Given the description of an element on the screen output the (x, y) to click on. 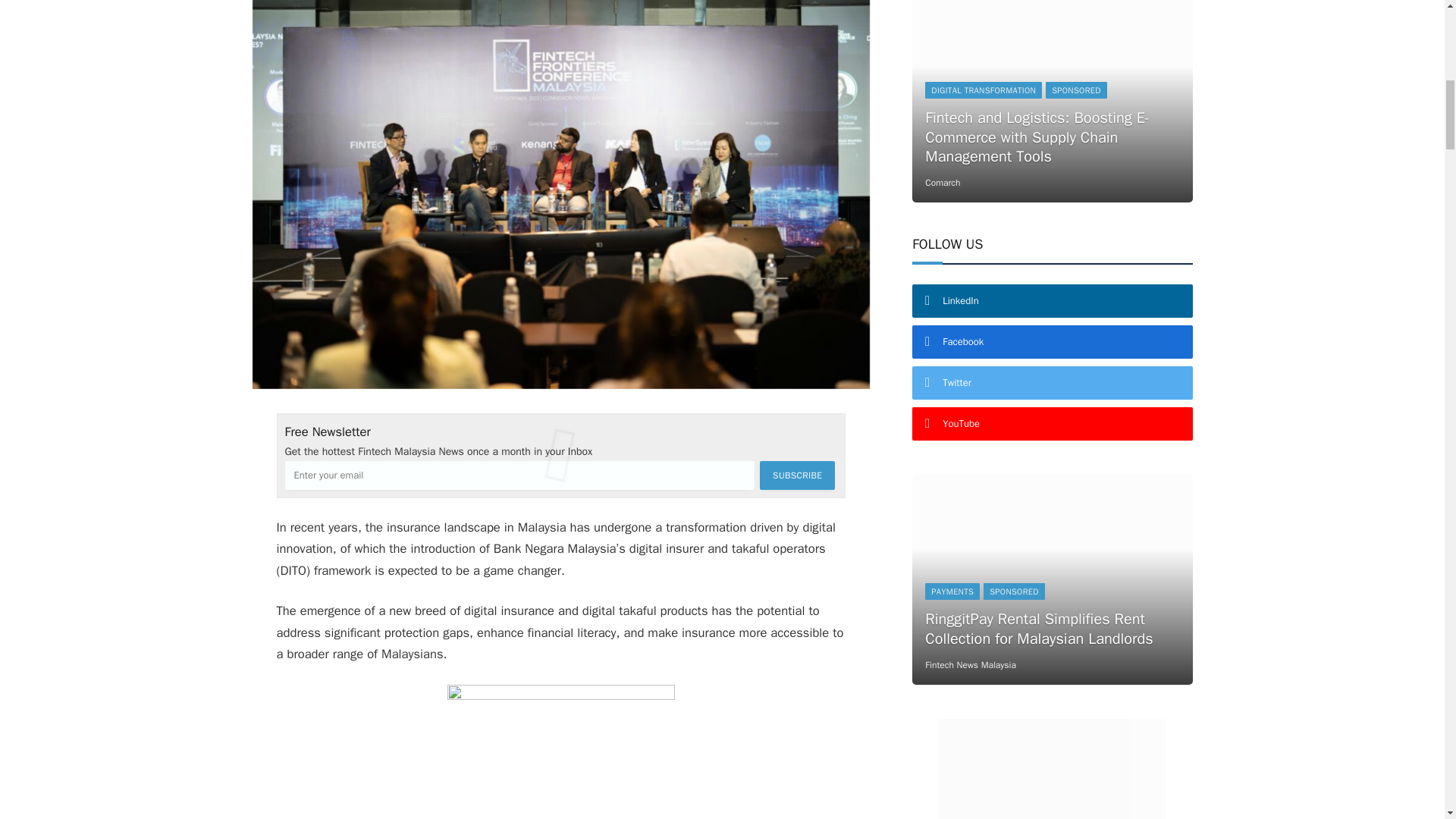
Subscribe (797, 475)
